Given the description of an element on the screen output the (x, y) to click on. 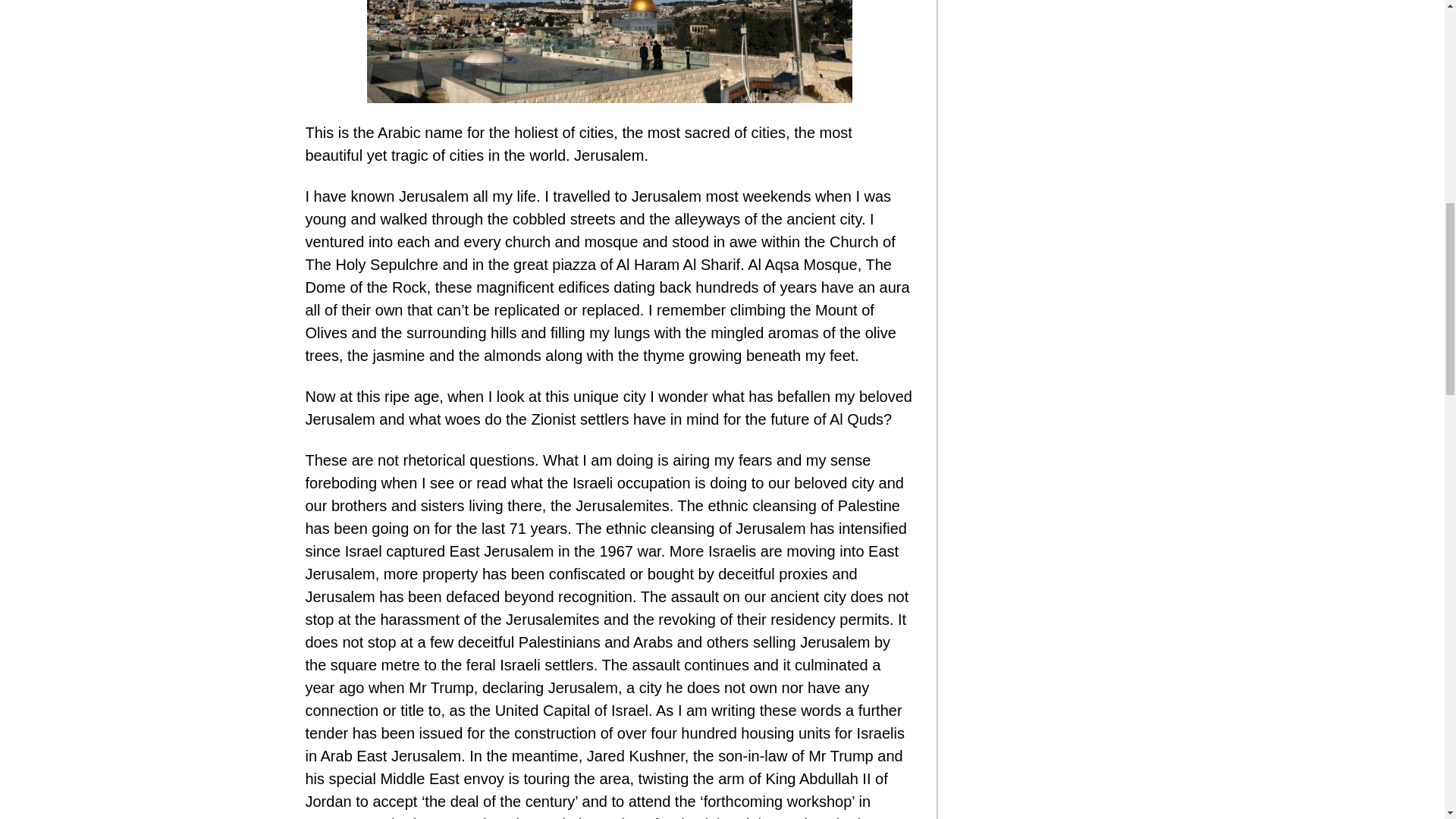
Al Quds 2 (608, 51)
